Given the description of an element on the screen output the (x, y) to click on. 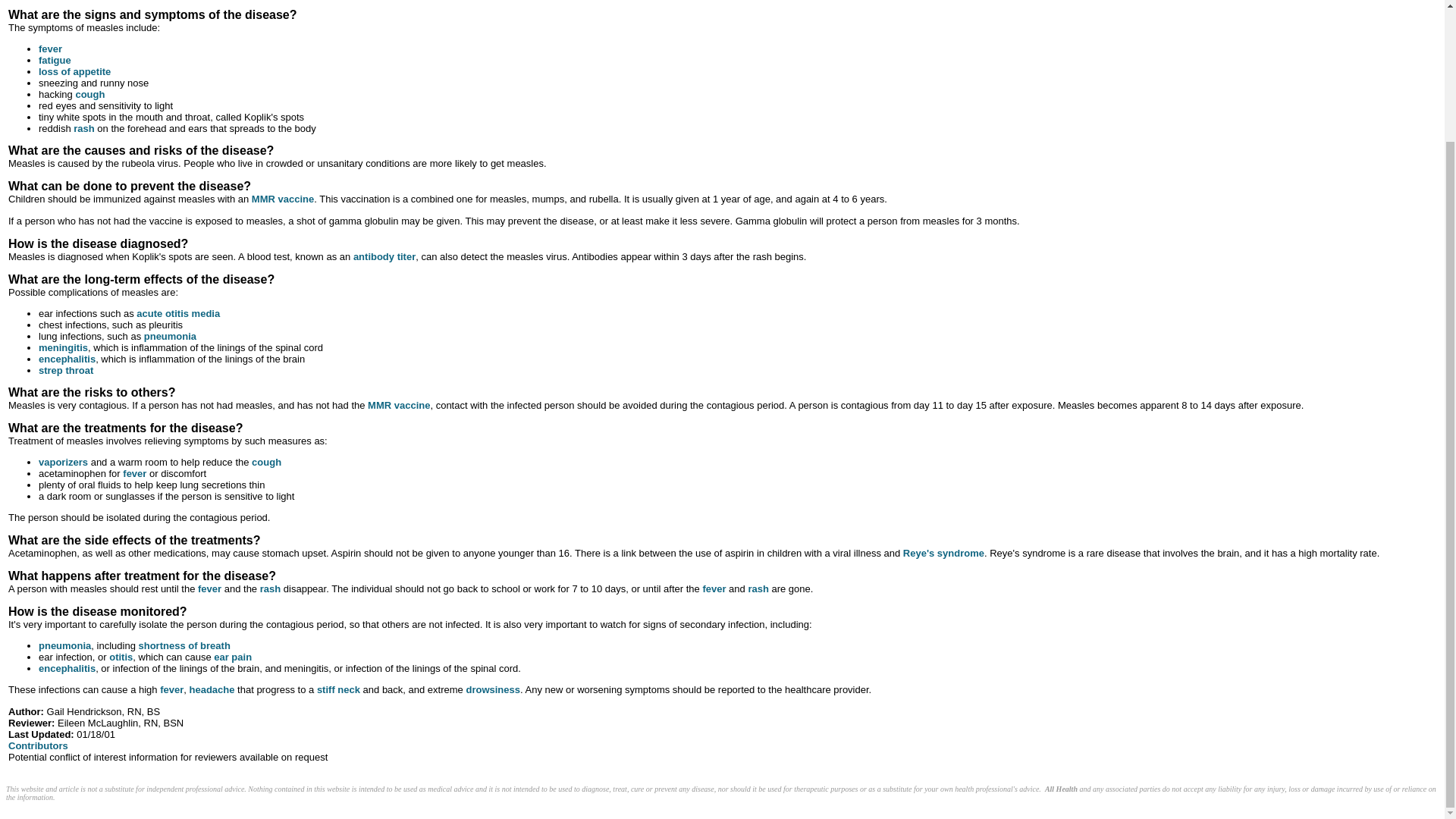
otitis (120, 656)
Contributors (38, 745)
vaporizers (63, 461)
Reye's syndrome (943, 552)
meningitis (63, 347)
rash (84, 128)
fever (50, 48)
Rash (270, 588)
cough (266, 461)
Rash (758, 588)
